Given the description of an element on the screen output the (x, y) to click on. 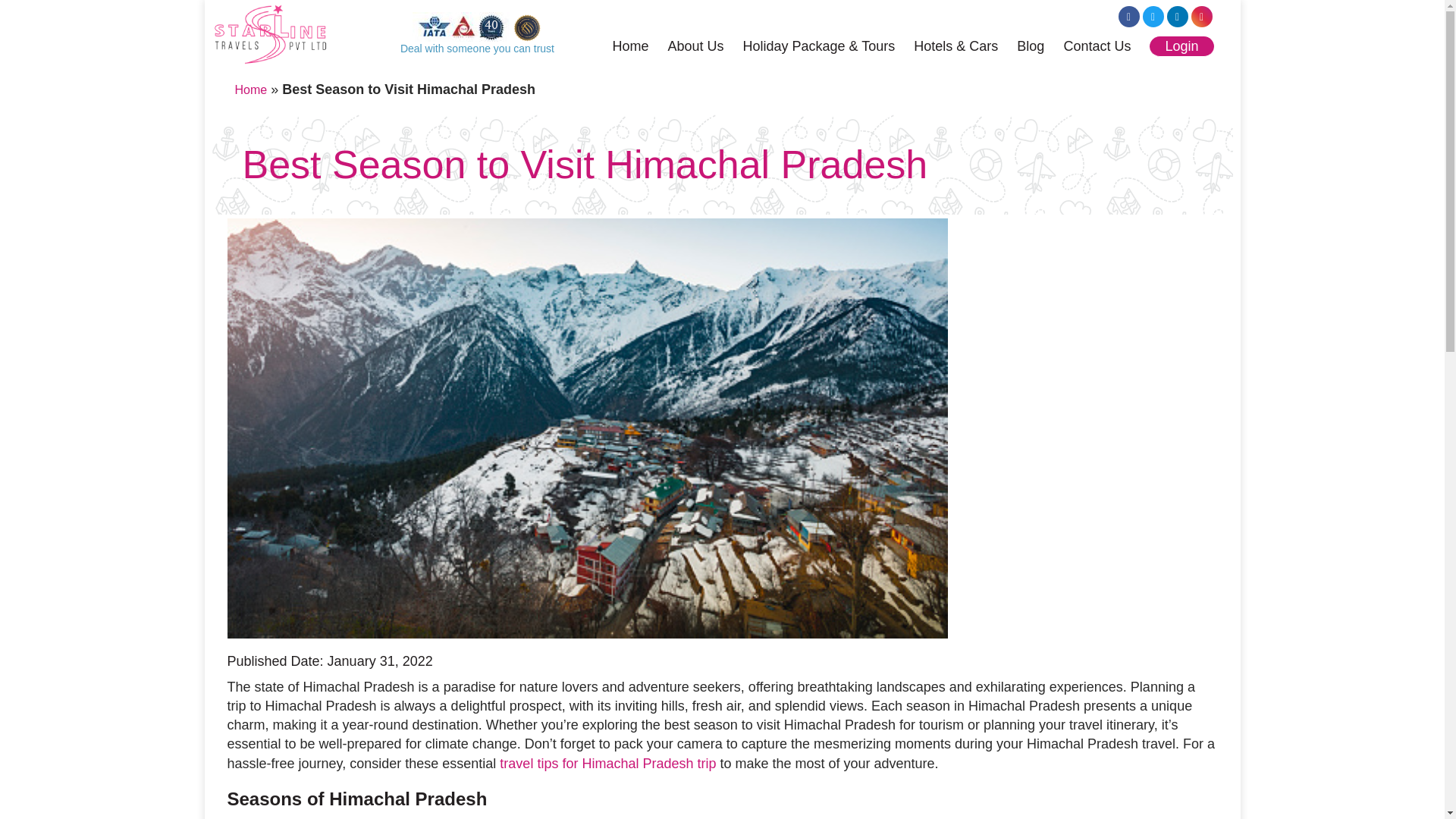
Home (629, 48)
Home (250, 89)
travel tips for Himachal Pradesh trip (607, 763)
Instagram (1201, 16)
Facebook (1128, 16)
Login (1181, 46)
LinkedIn (1177, 16)
Twitter (1152, 16)
Contact Us (1096, 48)
Blog (1029, 48)
